Given the description of an element on the screen output the (x, y) to click on. 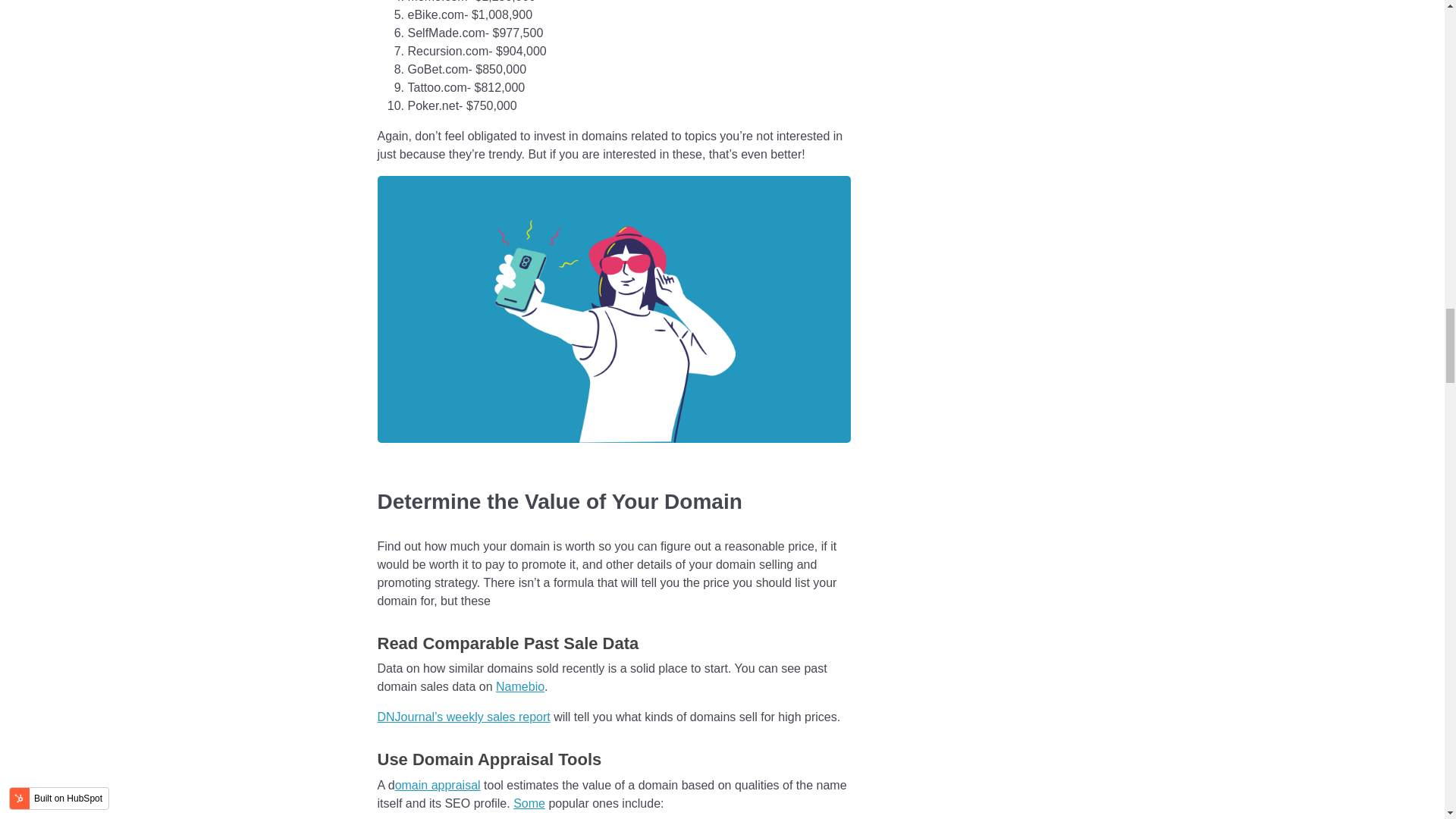
Some (528, 802)
Namebio (520, 686)
omain appraisal (437, 784)
